Given the description of an element on the screen output the (x, y) to click on. 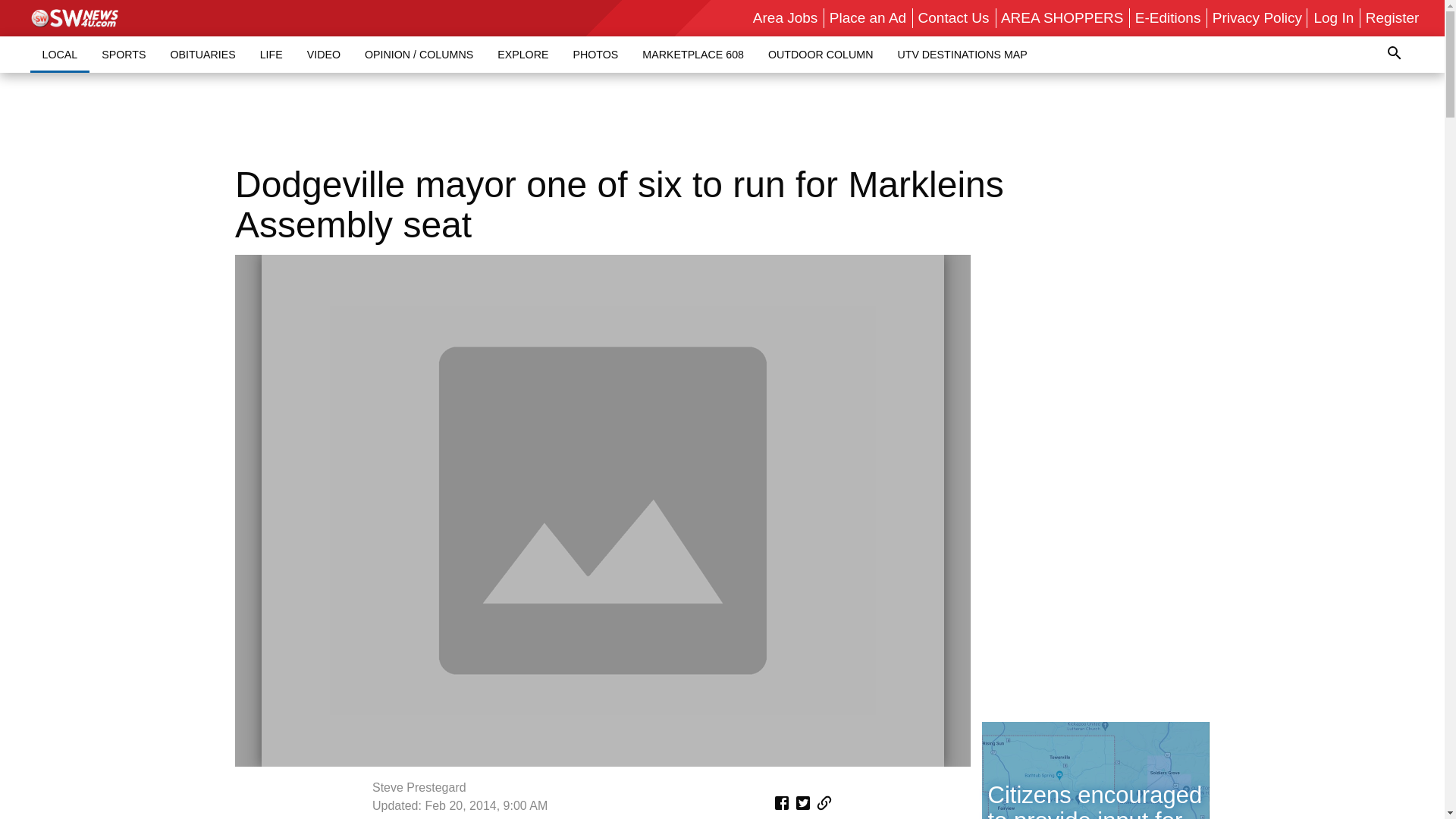
PHOTOS (595, 54)
E-Editions (1168, 17)
MARKETPLACE 608 (692, 54)
VIDEO (323, 54)
LOCAL (60, 54)
SPORTS (122, 54)
Contact Us (954, 17)
Log In (1333, 17)
LIFE (271, 54)
Privacy Policy (1256, 17)
